Given the description of an element on the screen output the (x, y) to click on. 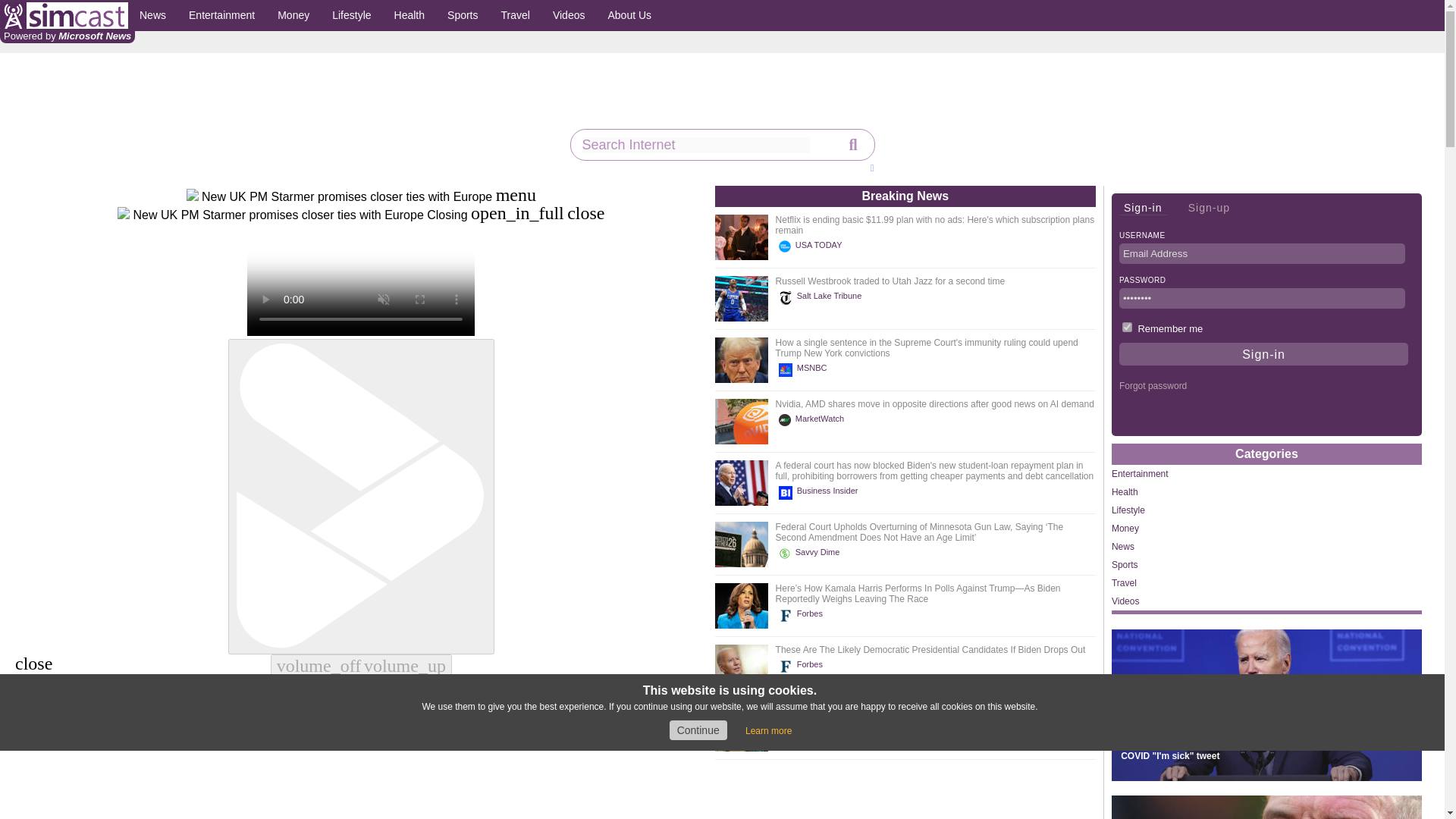
News (152, 15)
Russell Westbrook traded to Utah Jazz for a second time (891, 281)
  Salt Lake Tribune   (822, 297)
Travel (515, 15)
  MarketWatch   (813, 419)
Money (293, 15)
News (152, 15)
About Us (628, 15)
Videos (568, 15)
About Us (628, 15)
Entertainment (221, 15)
Password (1262, 298)
Health (408, 15)
Email Address (1262, 253)
